Given the description of an element on the screen output the (x, y) to click on. 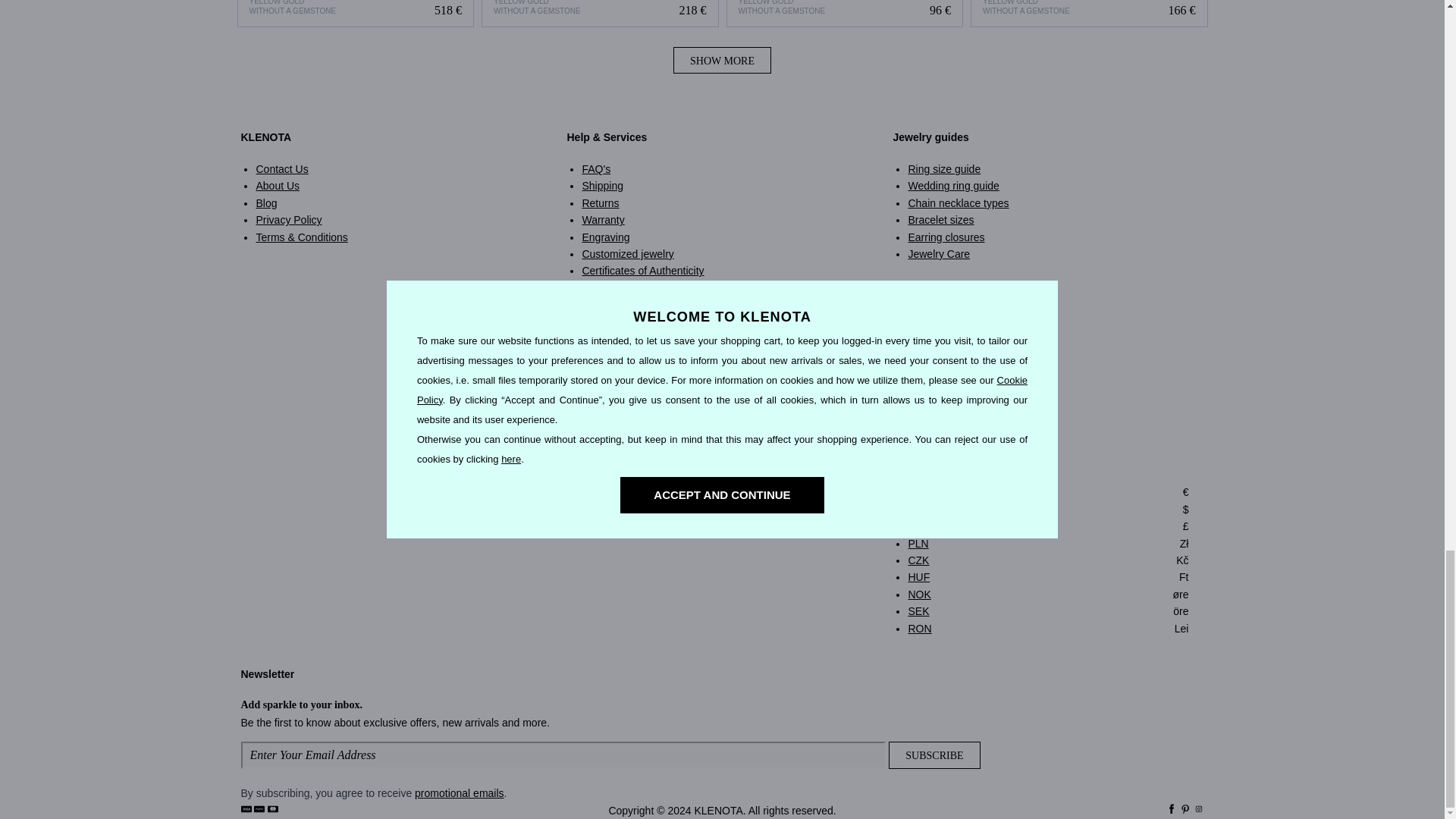
50 cm Gold Rolo Chain (1089, 13)
Ladies 45 cm Rolo Chain Necklace in Gold (600, 13)
Ladies 45 cm Rolo Chain Necklace in Gold (599, 13)
Ladies Necklace in Yellow Gold (354, 13)
50 cm Gold Rolo Chain (1089, 13)
Ladies Necklace in Yellow Gold (356, 13)
Anchor Chain in Yellow Gold (844, 13)
Anchor Chain in Yellow Gold (844, 13)
